Given the description of an element on the screen output the (x, y) to click on. 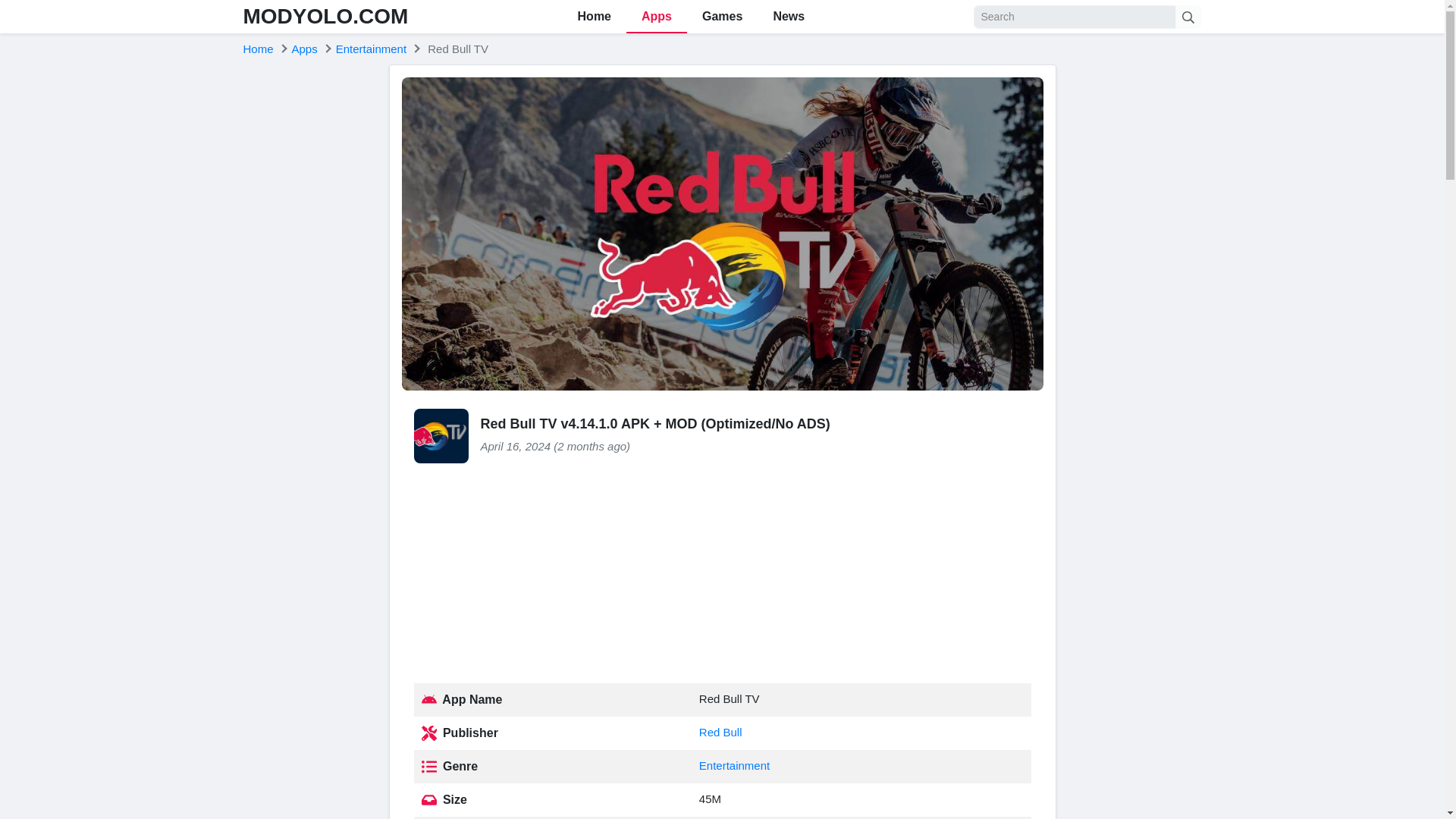
Home (594, 16)
Games (722, 16)
Apps (304, 48)
News (788, 16)
Home (258, 48)
Entertainment (371, 48)
Apps (656, 16)
MODYOLO.COM (325, 15)
Entertainment (734, 765)
Home (258, 48)
Red Bull (720, 731)
